Given the description of an element on the screen output the (x, y) to click on. 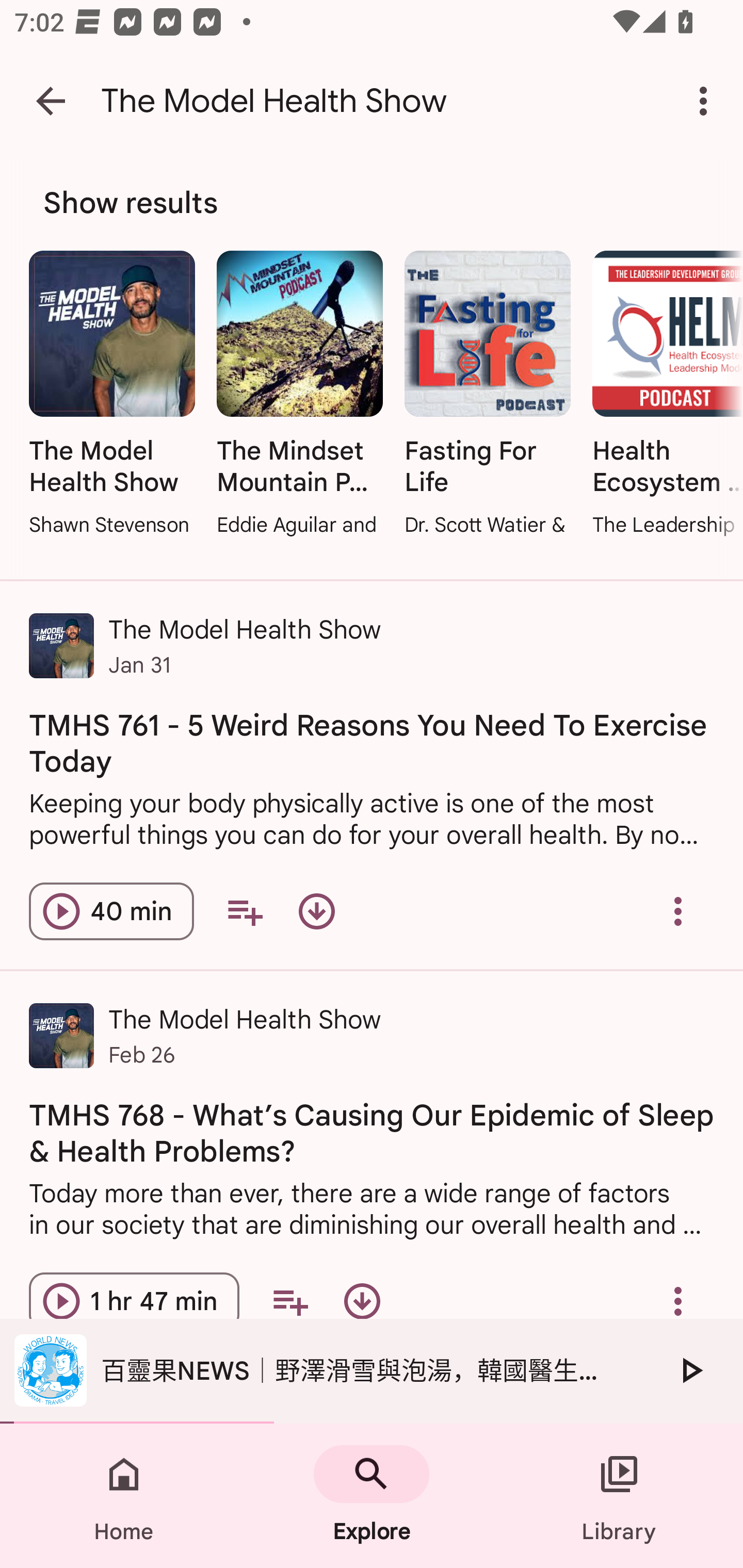
Navigate up The Model Health Show More options (371, 100)
Navigate up (50, 101)
More options (706, 101)
Add to your queue (244, 911)
Download episode (316, 911)
Overflow menu (677, 911)
Add to your queue (290, 1301)
Download episode (362, 1301)
Overflow menu (677, 1301)
Play (690, 1370)
Home (123, 1495)
Library (619, 1495)
